Given the description of an element on the screen output the (x, y) to click on. 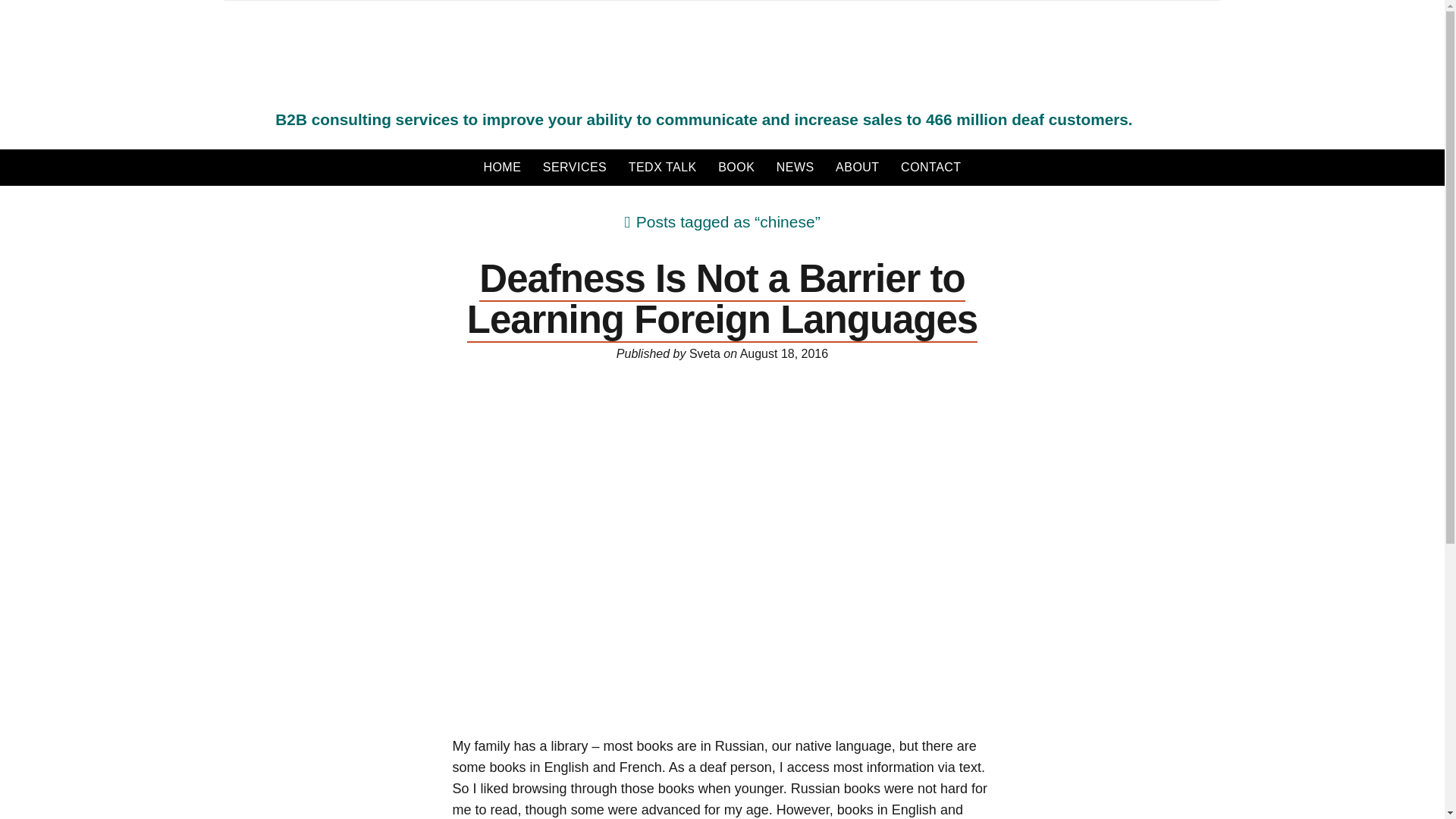
NEWS (795, 167)
CONTACT (931, 167)
HOME (501, 167)
TEDX TALK (663, 167)
Deafness Is Not a Barrier to Learning Foreign Languages (721, 300)
BOOK (735, 167)
ABOUT (857, 167)
SERVICES (574, 167)
